Given the description of an element on the screen output the (x, y) to click on. 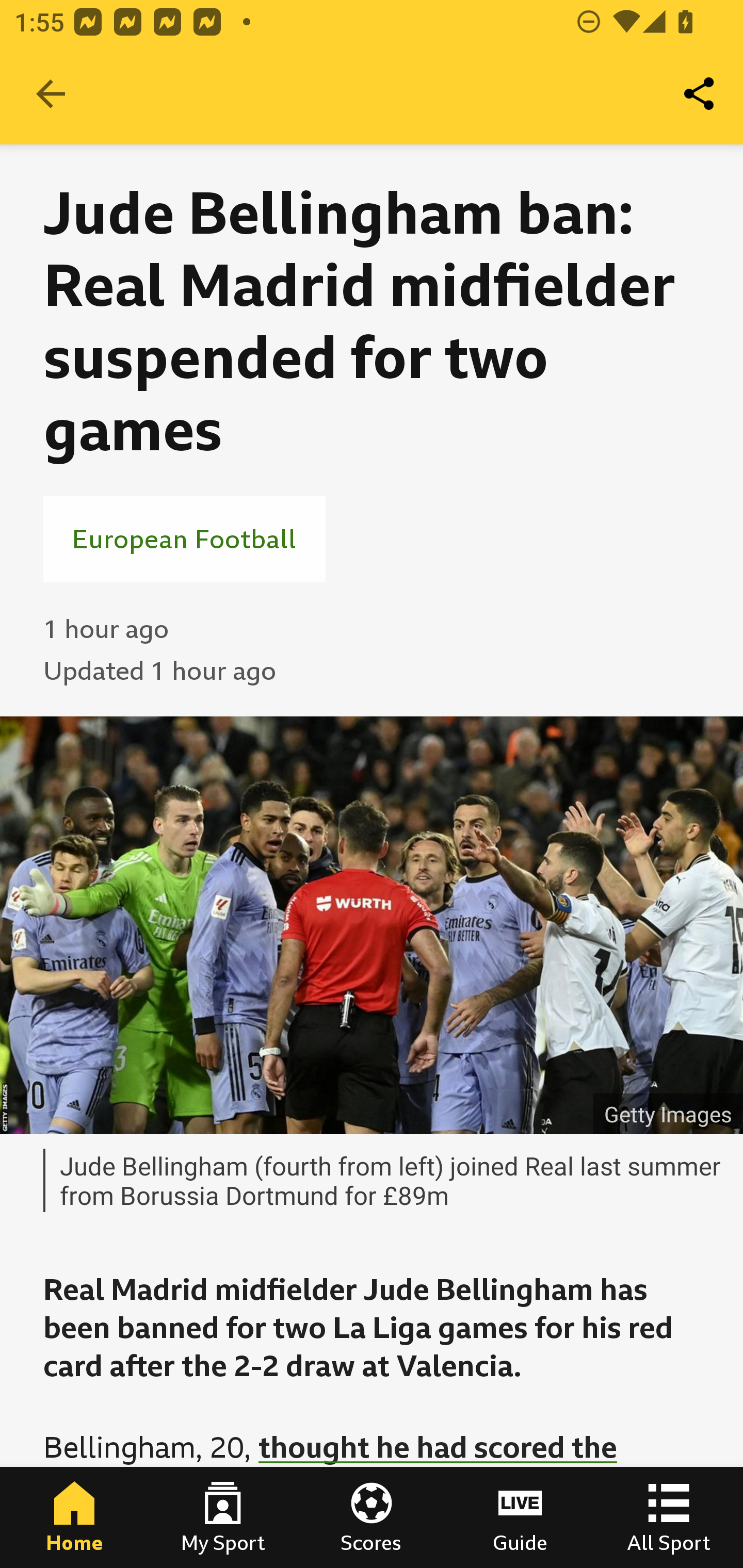
Navigate up (50, 93)
Share (699, 93)
European Football (184, 538)
My Sport (222, 1517)
Scores (371, 1517)
Guide (519, 1517)
All Sport (668, 1517)
